Given the description of an element on the screen output the (x, y) to click on. 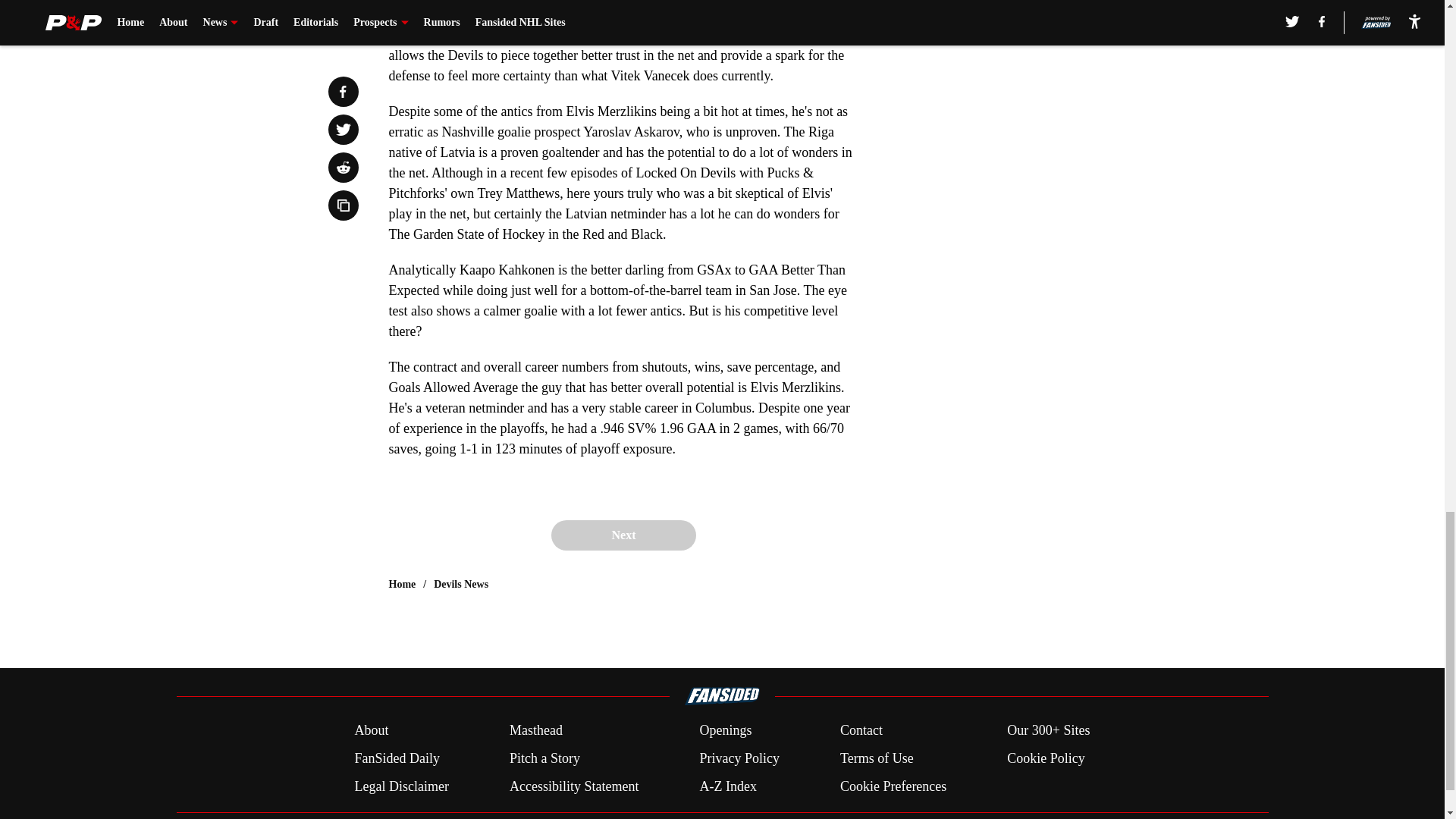
Contact (861, 730)
Masthead (535, 730)
Legal Disclaimer (400, 786)
About (370, 730)
Terms of Use (877, 758)
Pitch a Story (544, 758)
FanSided Daily (396, 758)
Home (401, 584)
Cookie Policy (1045, 758)
Openings (724, 730)
Privacy Policy (738, 758)
Next (622, 535)
Devils News (460, 584)
